Given the description of an element on the screen output the (x, y) to click on. 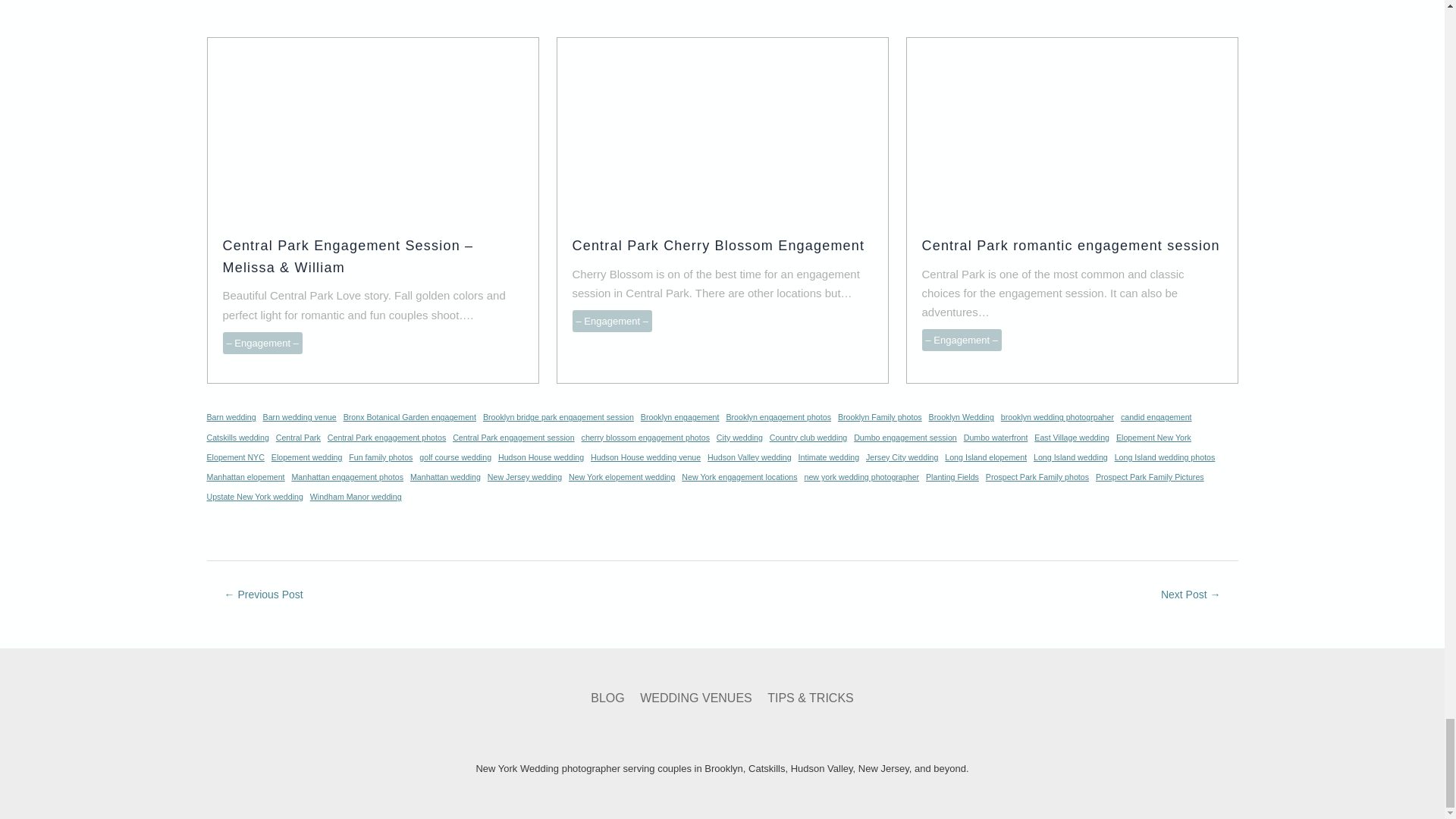
Brooklyn bridge park engagement session (558, 416)
Central Park engagement session (513, 437)
Barn wedding venue (299, 416)
Brooklyn engagement photos (778, 416)
Brooklyn engagement (679, 416)
Catskills wedding (236, 437)
- Engagement - (262, 342)
Central Park romantic engagement session (1070, 245)
- Engagement - (611, 321)
candid engagement (1156, 416)
- Engagement - (961, 340)
Terrace on the Park - Spring wedding with a view (263, 596)
Central Park (298, 437)
Central Park Cherry Blossom Engagement (718, 245)
Barn wedding (231, 416)
